Given the description of an element on the screen output the (x, y) to click on. 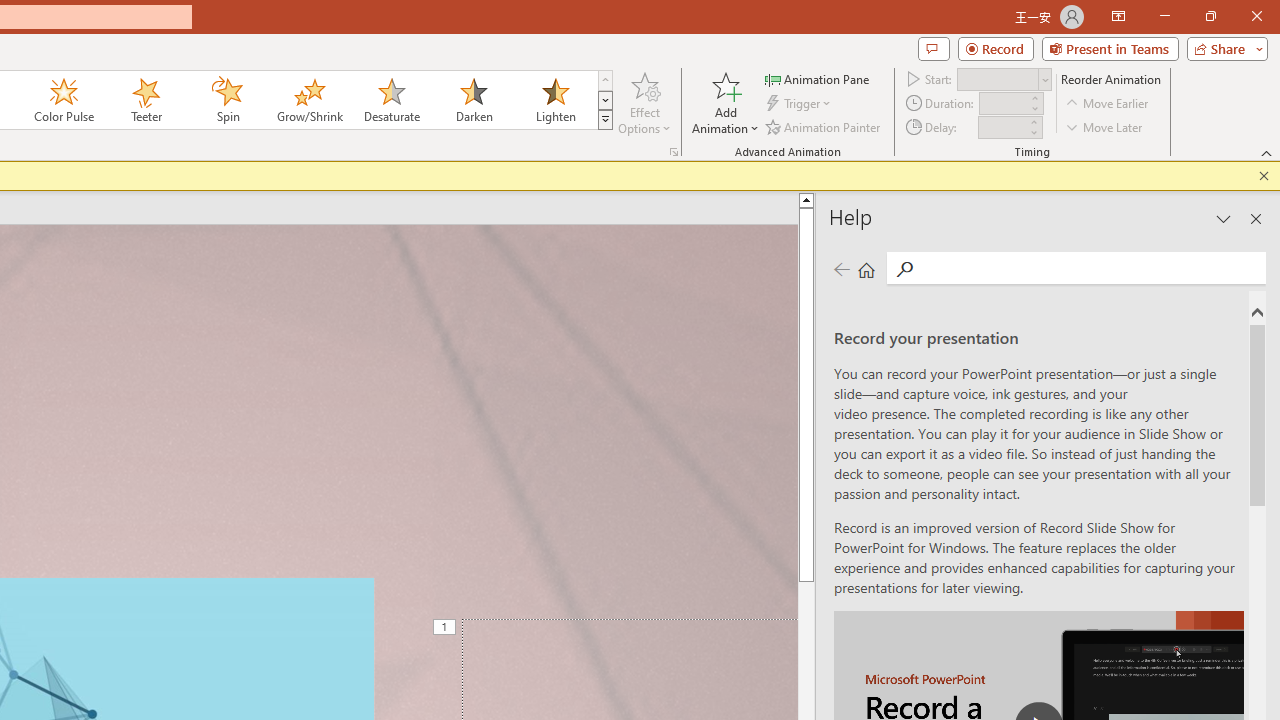
Effect Options (644, 102)
Desaturate (391, 100)
Less (1033, 132)
Animation Duration (1003, 103)
More Options... (673, 151)
Trigger (799, 103)
Teeter (145, 100)
Animation Pane (818, 78)
Darken (473, 100)
Grow/Shrink (309, 100)
More (1033, 121)
